Given the description of an element on the screen output the (x, y) to click on. 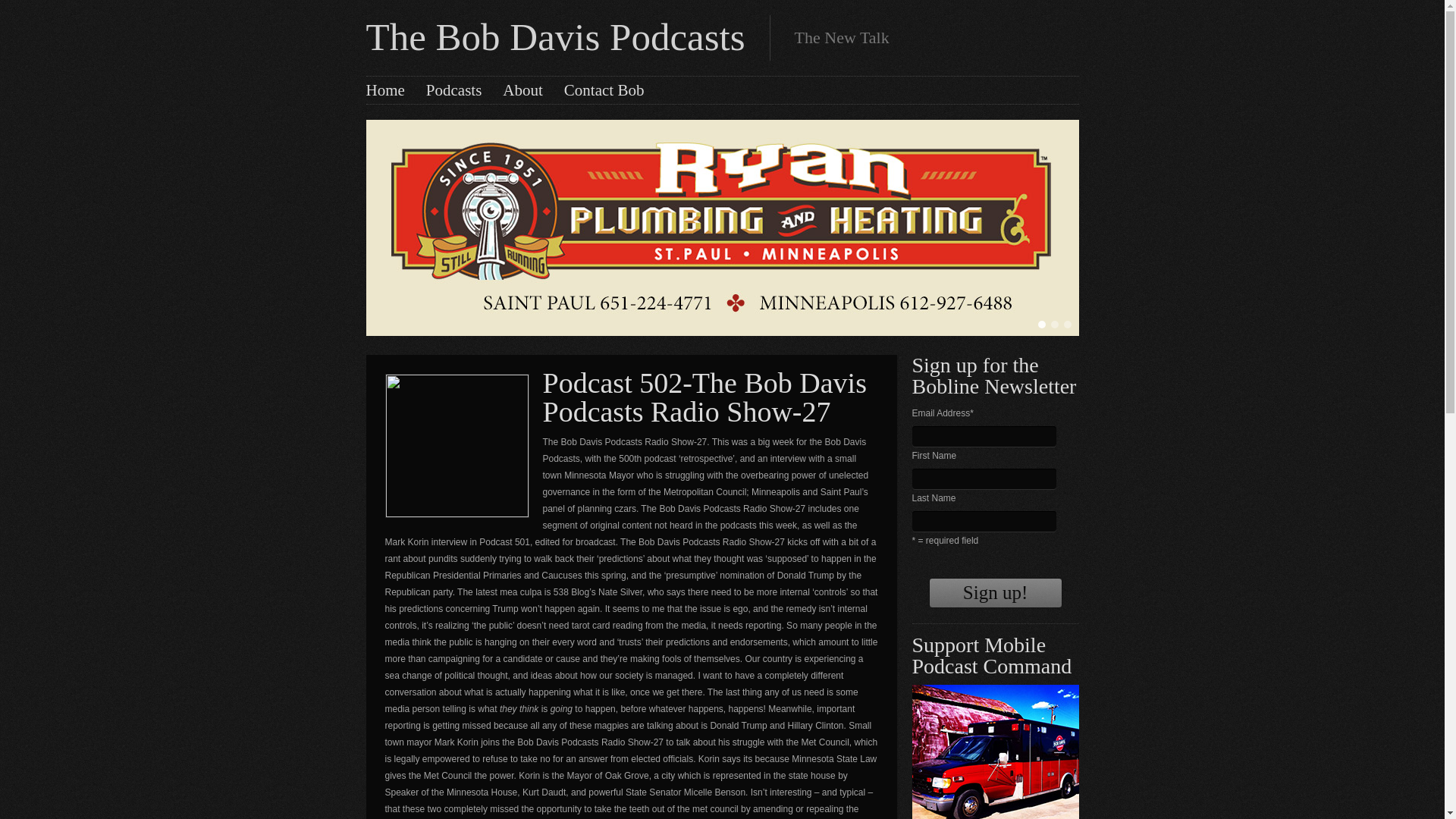
The Bob Davis Podcasts (554, 36)
The Bob Davis Podcasts (554, 36)
Podcasts (453, 89)
Podcast 502-The Bob Davis Podcasts Radio Show-27 (704, 396)
Contact Bob (604, 89)
About (522, 89)
Podcast 502-The Bob Davis Podcasts Radio Show-27 (704, 396)
2 (1054, 324)
1 (1040, 324)
Listen to the Bob Davis Podcasts (453, 89)
